Given the description of an element on the screen output the (x, y) to click on. 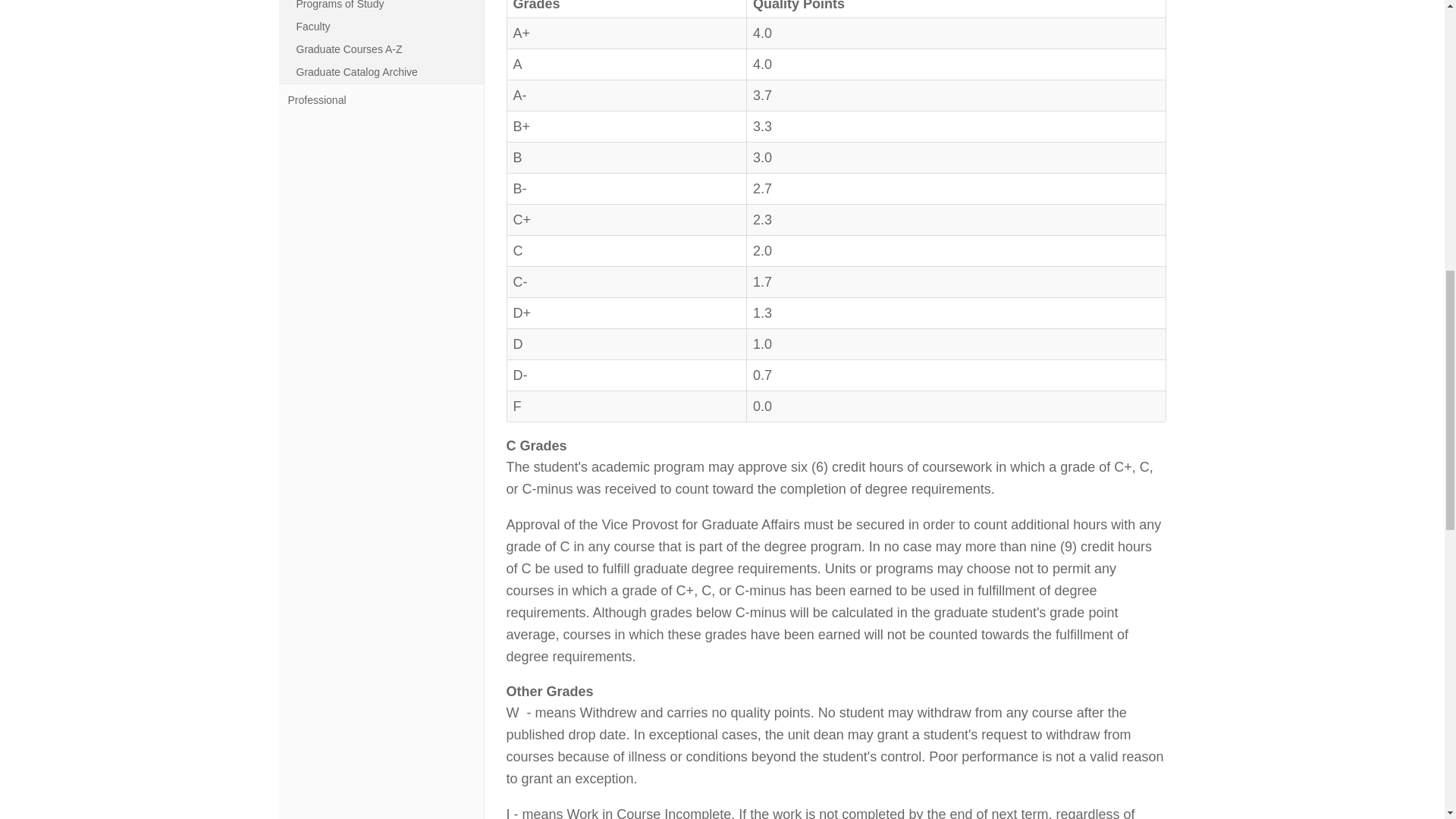
Professional (381, 100)
Graduate Catalog Archive (386, 71)
Graduate Courses A-Z (386, 48)
Faculty (386, 26)
Programs of Study (386, 7)
